Given the description of an element on the screen output the (x, y) to click on. 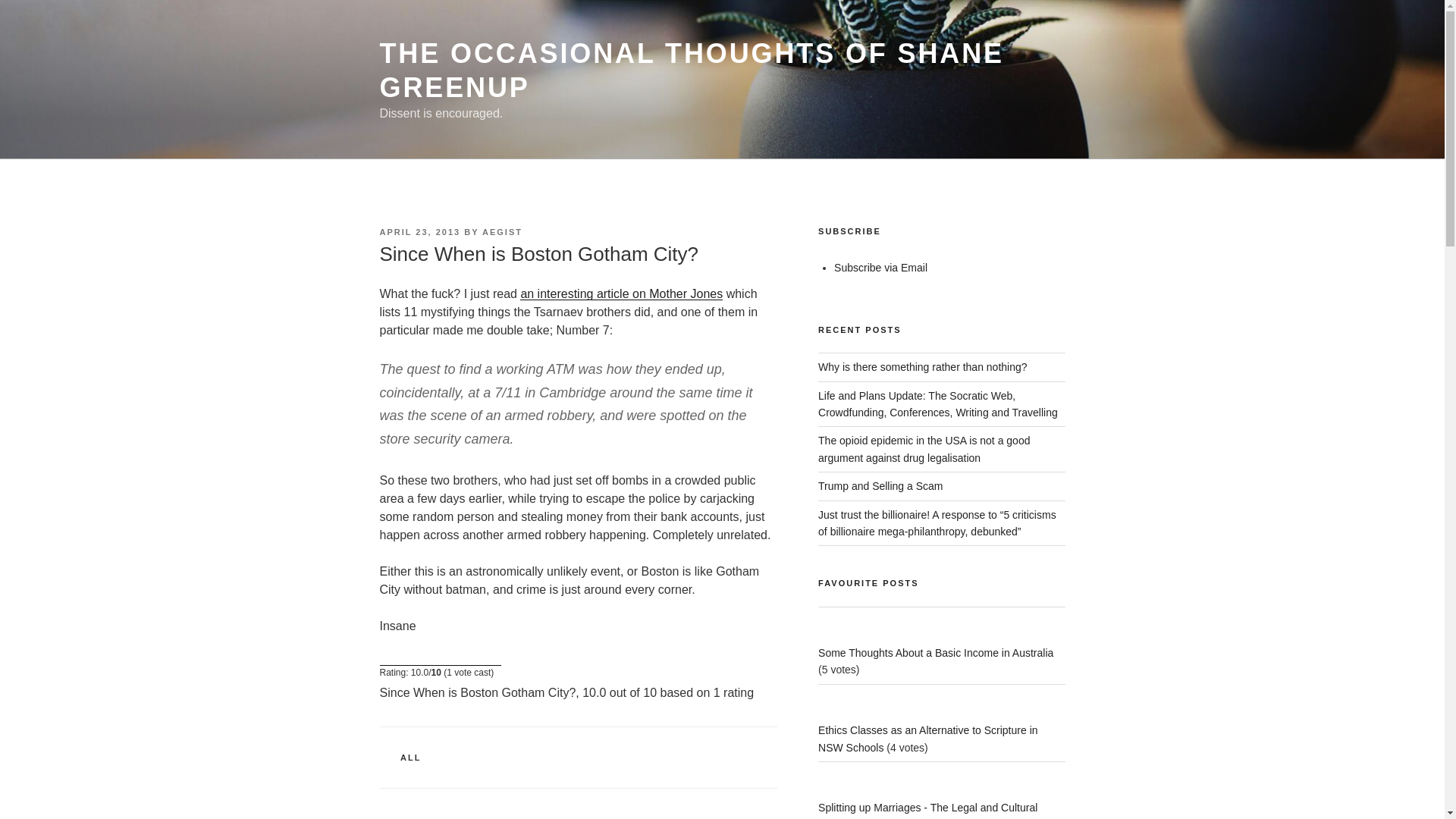
an interesting article on Mother Jones (620, 293)
THE OCCASIONAL THOUGHTS OF SHANE GREENUP (691, 70)
ALL (410, 757)
Some Thoughts About a Basic Income in Australia (935, 653)
Why is there something rather than nothing? (922, 367)
Trump and Selling a Scam (880, 485)
Ethics Classes as an Alternative to Scripture in NSW Schools (927, 737)
Subscribe via Email (880, 267)
AEGIST (501, 231)
